Given the description of an element on the screen output the (x, y) to click on. 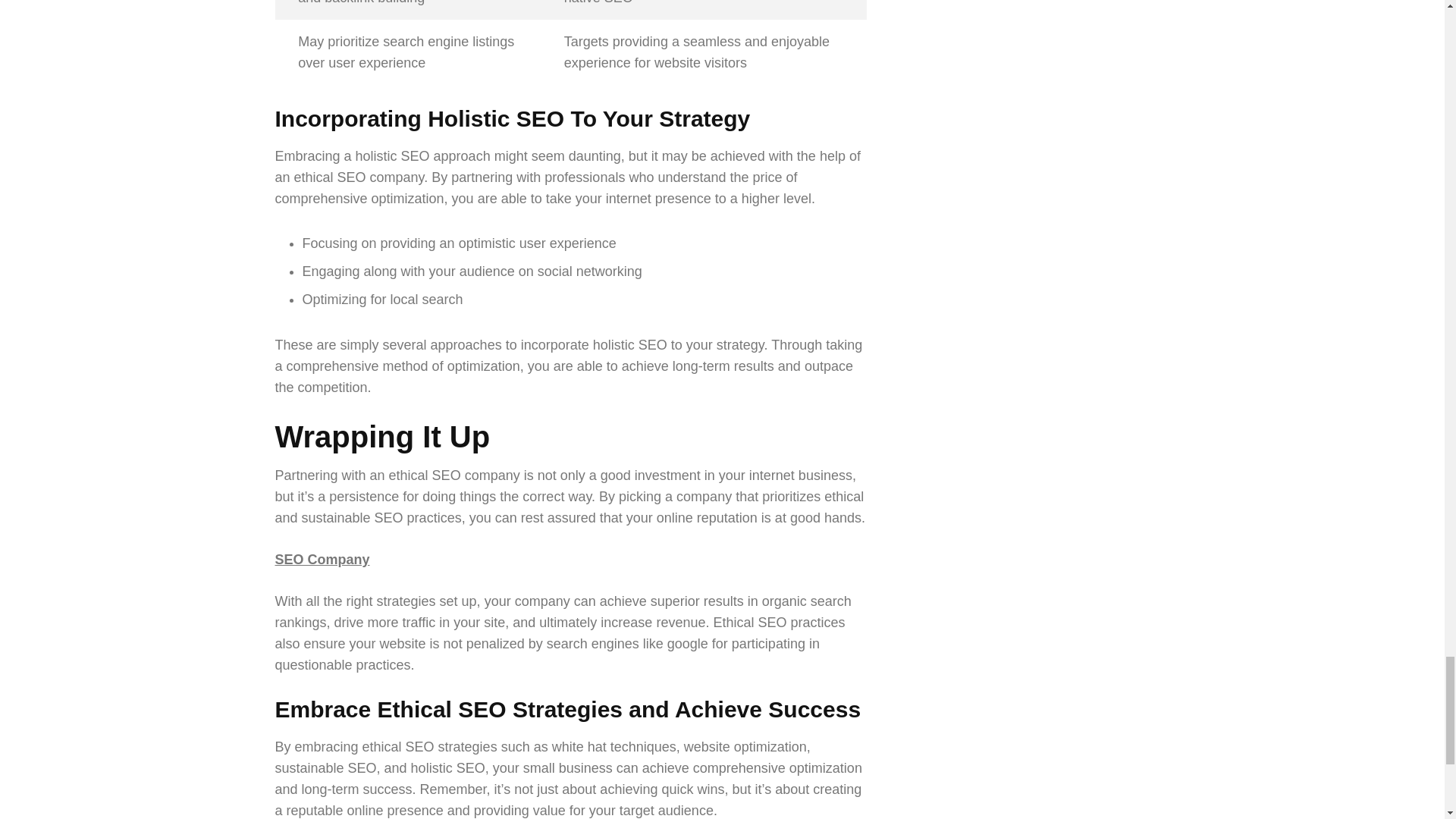
SEO Company (322, 559)
